Given the description of an element on the screen output the (x, y) to click on. 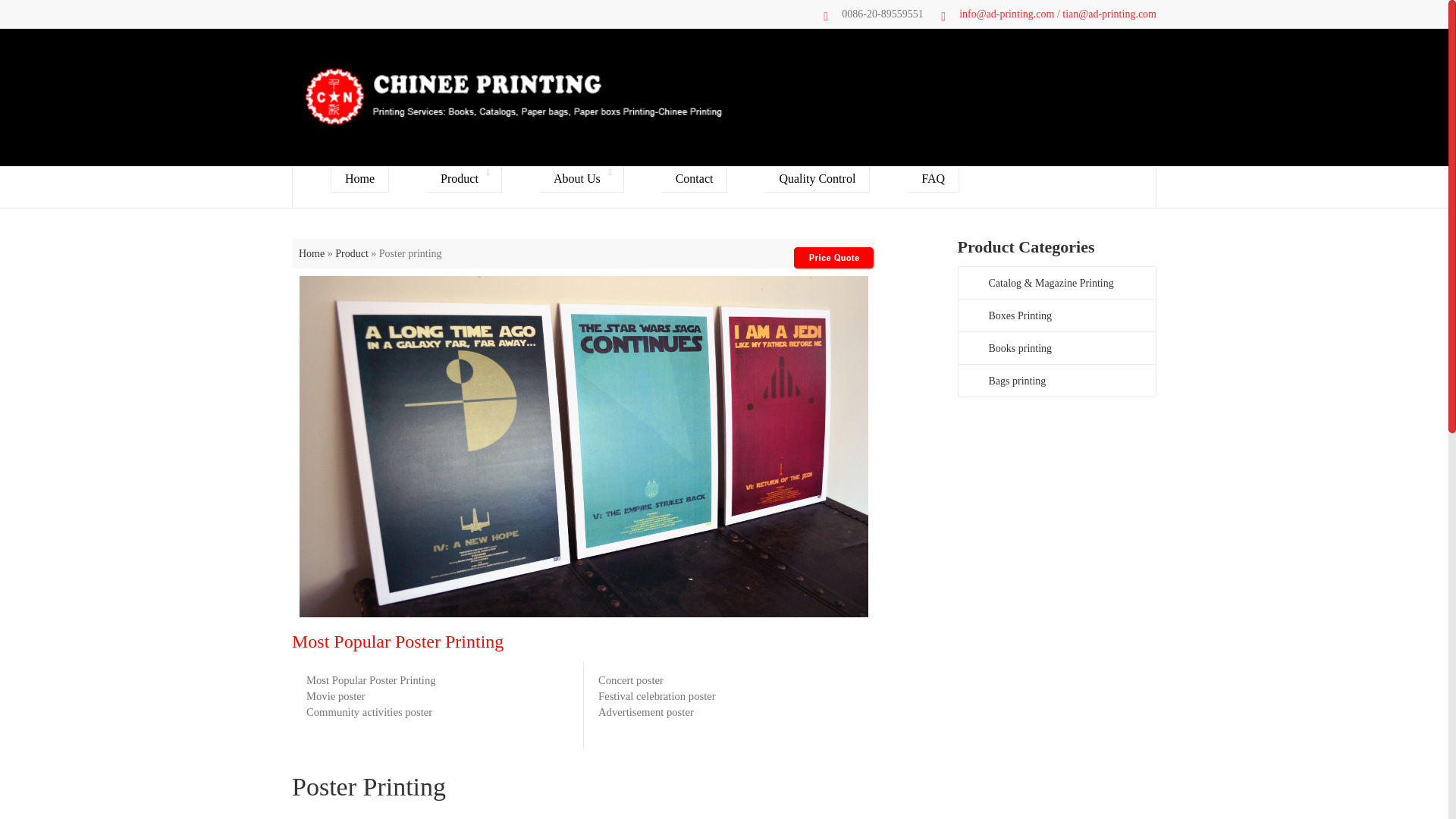
Home (311, 253)
Quality Control (817, 179)
Product (351, 253)
Product (464, 179)
About Us (582, 179)
Contact (695, 179)
Home (359, 179)
FAQ (933, 179)
